Given the description of an element on the screen output the (x, y) to click on. 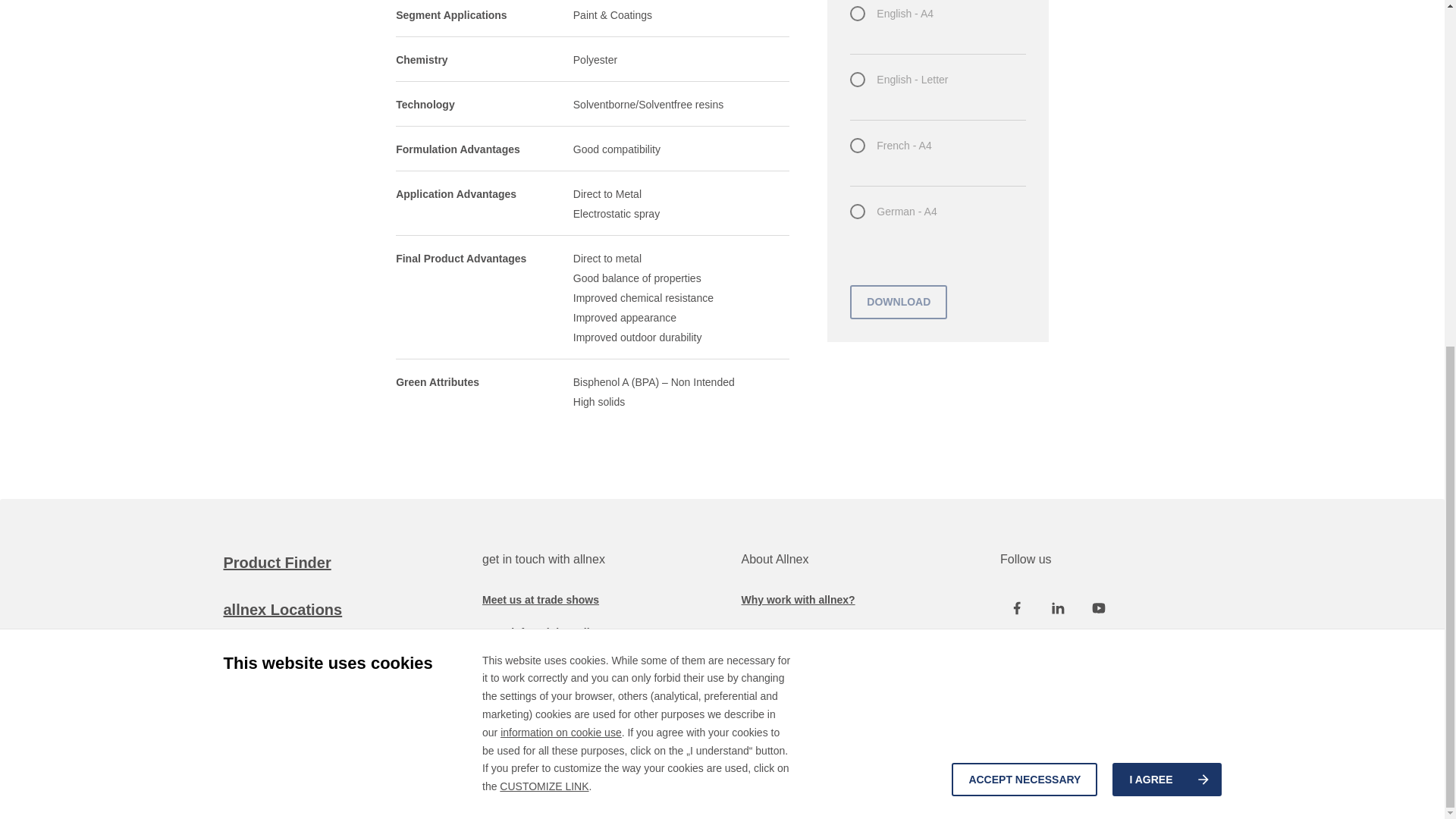
CUSTOMIZE LINK (543, 191)
information on cookie use (560, 137)
I AGREE (1166, 184)
ACCEPT NECESSARY (1024, 184)
Download (898, 301)
